Given the description of an element on the screen output the (x, y) to click on. 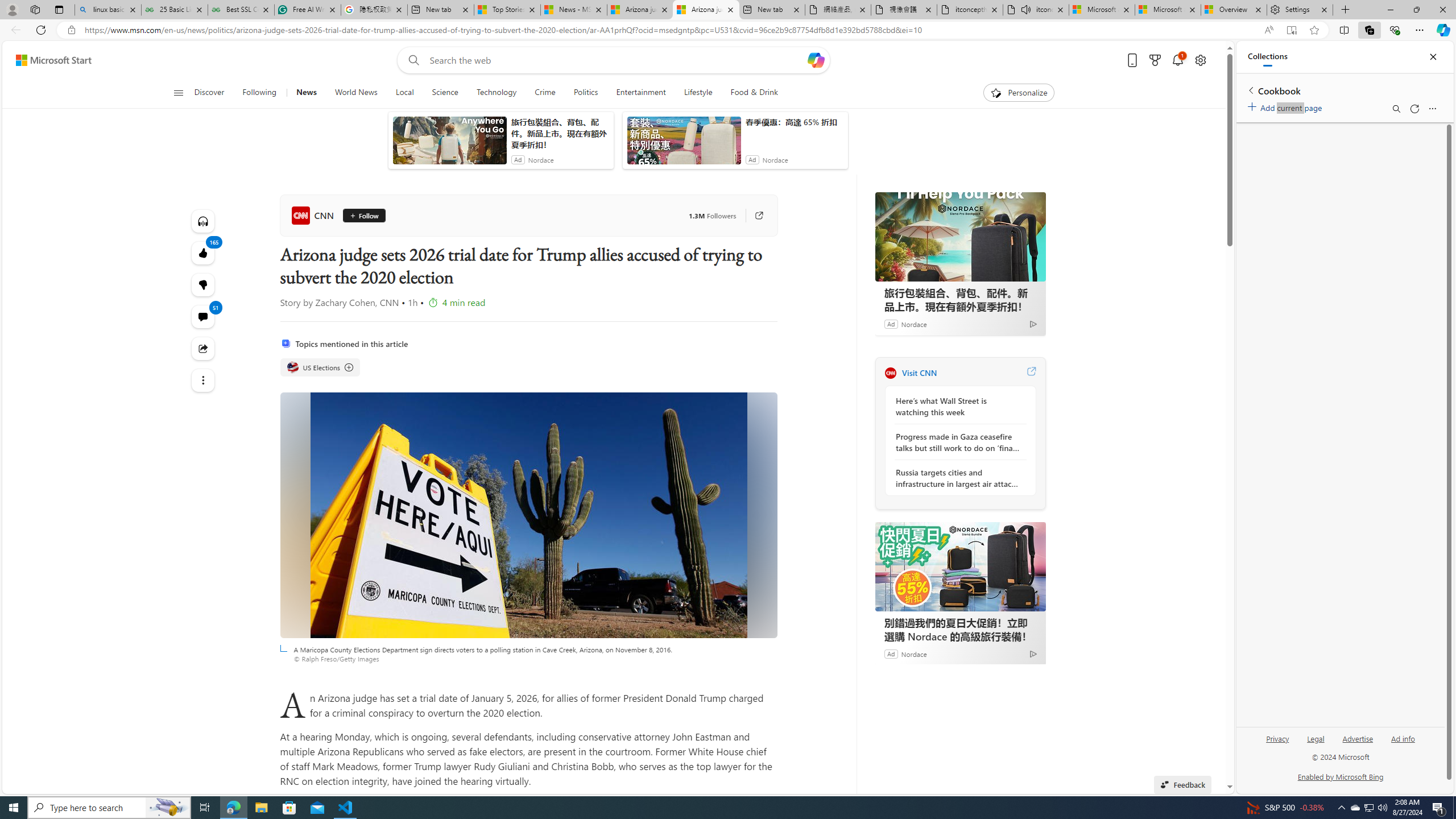
Mute tab (1026, 8)
US Elections (319, 367)
165 Like (202, 252)
Go to publisher's site (752, 215)
165 (202, 284)
Lifestyle (697, 92)
